Given the description of an element on the screen output the (x, y) to click on. 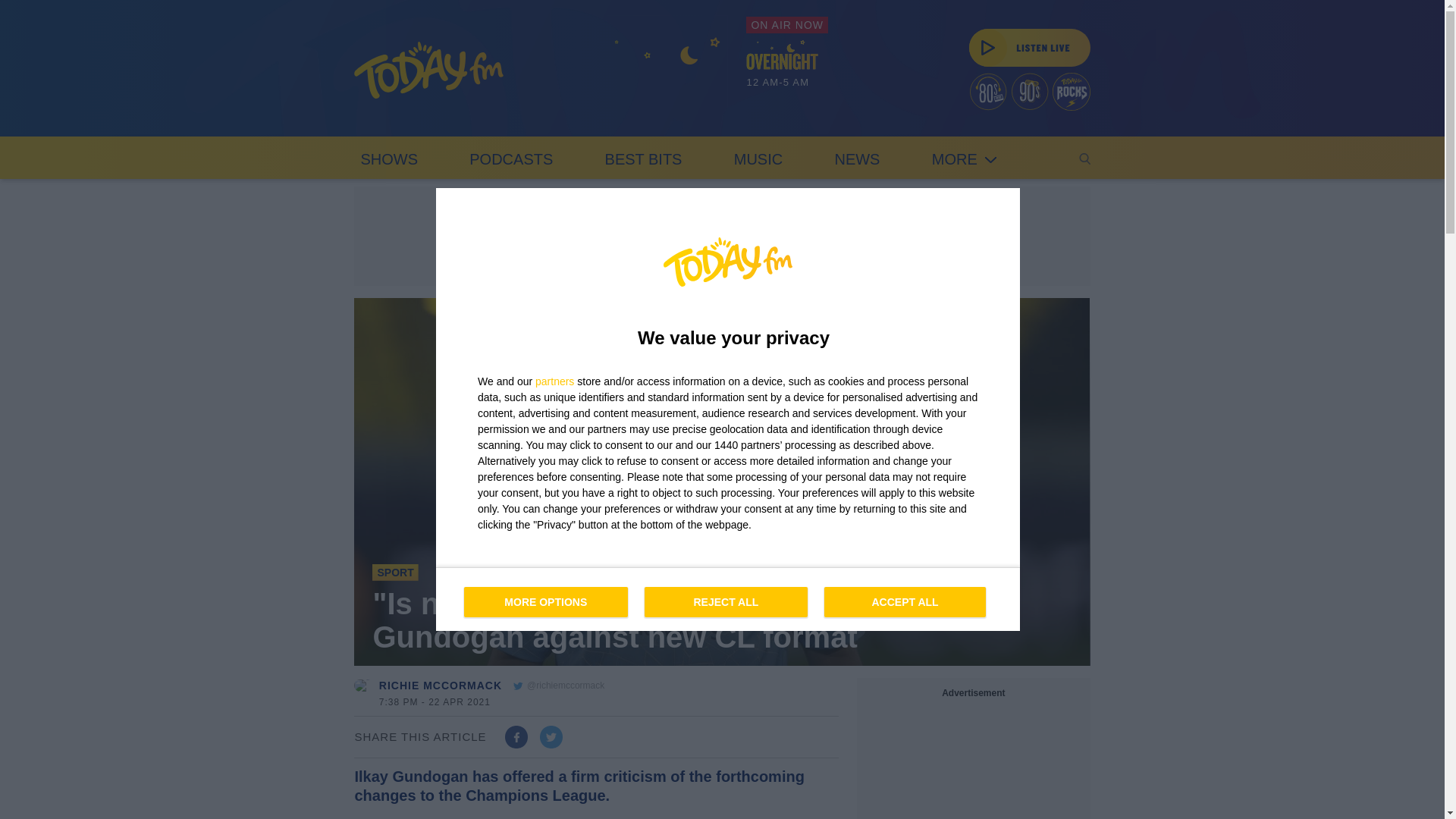
SPORT (394, 572)
Overnight (667, 75)
News (856, 157)
REJECT ALL (727, 598)
Podcasts (726, 602)
Shows (511, 157)
Music (388, 157)
BEST BITS (758, 157)
SHOWS (643, 157)
PODCASTS (388, 157)
MORE (511, 157)
Best Bits (964, 158)
12 AM-5 AM (643, 157)
Overnight (786, 67)
